Given the description of an element on the screen output the (x, y) to click on. 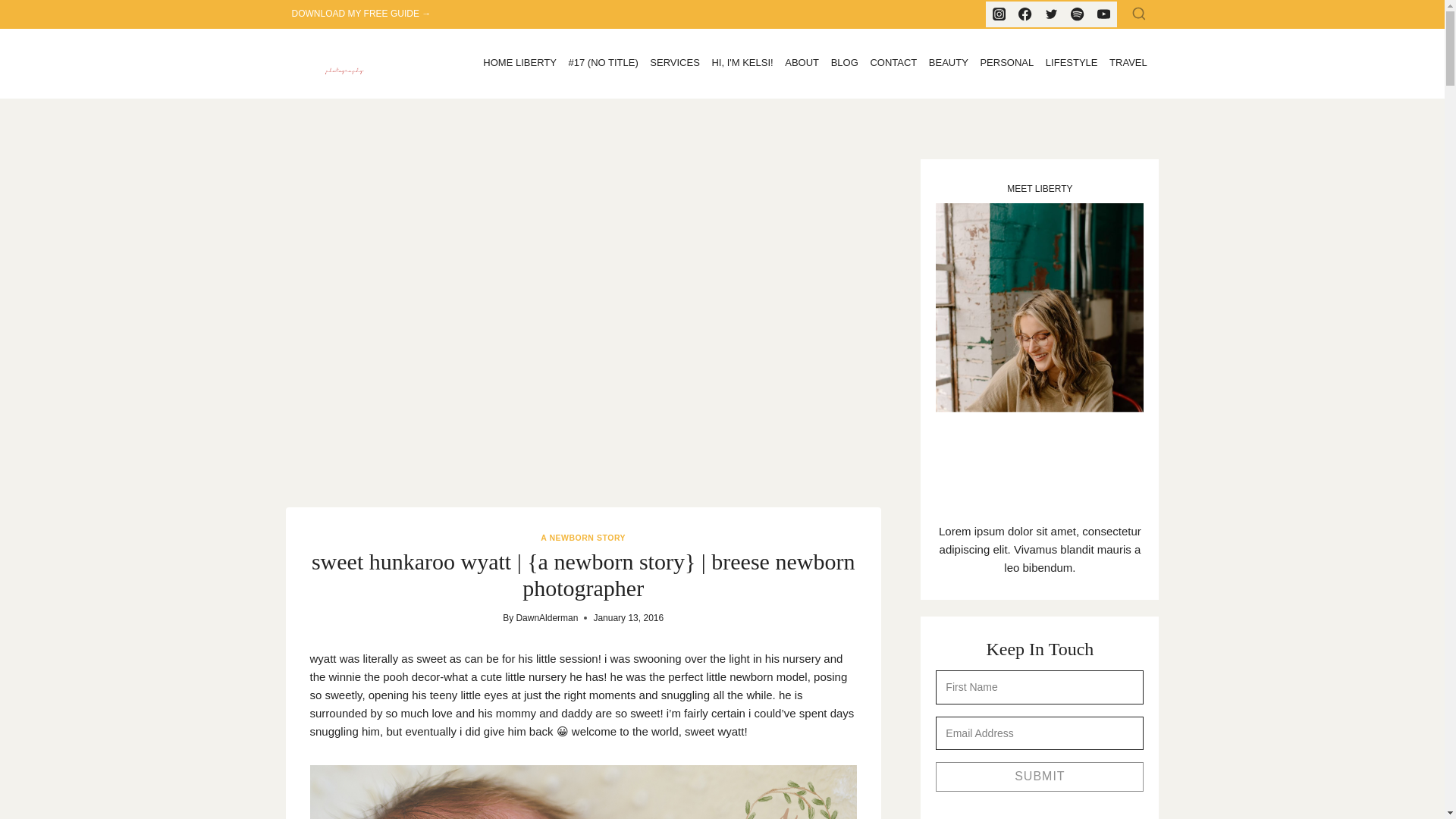
BEAUTY (948, 63)
home page (742, 63)
SERVICES (675, 63)
A NEWBORN STORY (583, 537)
CONTACT (893, 63)
ABOUT (801, 63)
TRAVEL (1128, 63)
HOME LIBERTY (519, 63)
LIFESTYLE (1071, 63)
DawnAlderman (546, 617)
